Given the description of an element on the screen output the (x, y) to click on. 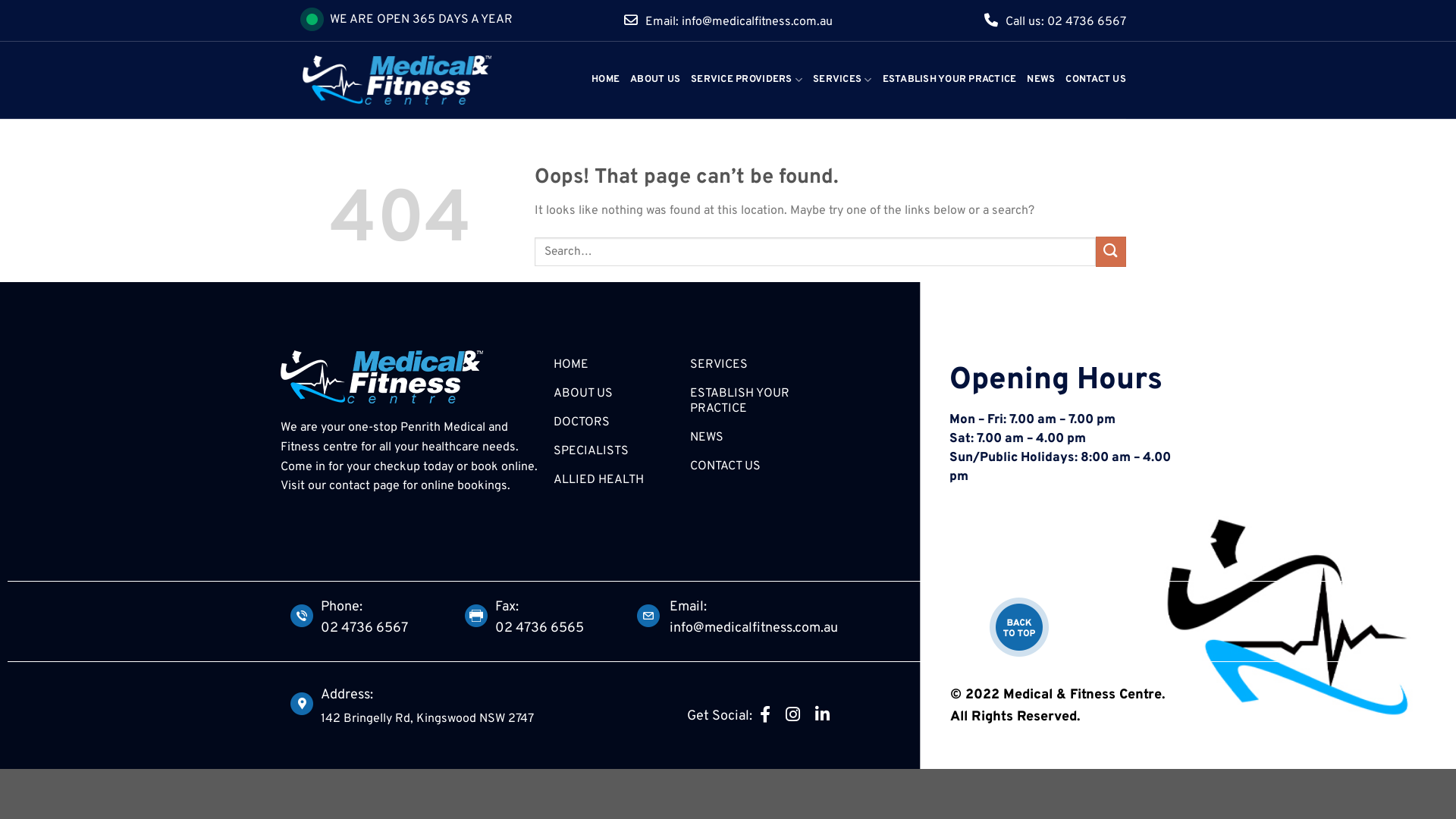
SERVICES Element type: text (755, 364)
CONTACT US Element type: text (755, 465)
142 Bringelly Rd, Kingswood NSW 2747 Element type: text (426, 718)
Medical Fitness - Medical and Fitness Centre Element type: hover (423, 79)
NEWS Element type: text (1040, 79)
SERVICE PROVIDERS Element type: text (746, 79)
02 4736 6567 Element type: text (399, 628)
02 4736 6567 Element type: text (1086, 21)
ALLIED HEALTH Element type: text (613, 479)
info@medicalfitness.com.au Element type: text (755, 21)
NEWS Element type: text (755, 437)
ESTABLISH YOUR PRACTICE Element type: text (949, 79)
Go to top Element type: hover (1018, 626)
HOME Element type: text (613, 364)
DOCTORS Element type: text (613, 421)
ESTABLISH YOUR PRACTICE Element type: text (755, 401)
HOME Element type: text (605, 79)
SERVICES Element type: text (842, 79)
info@medicalfitness.com.au Element type: text (813, 628)
CONTACT US Element type: text (1095, 79)
SPECIALISTS Element type: text (613, 450)
ABOUT US Element type: text (613, 393)
ABOUT US Element type: text (655, 79)
